Given the description of an element on the screen output the (x, y) to click on. 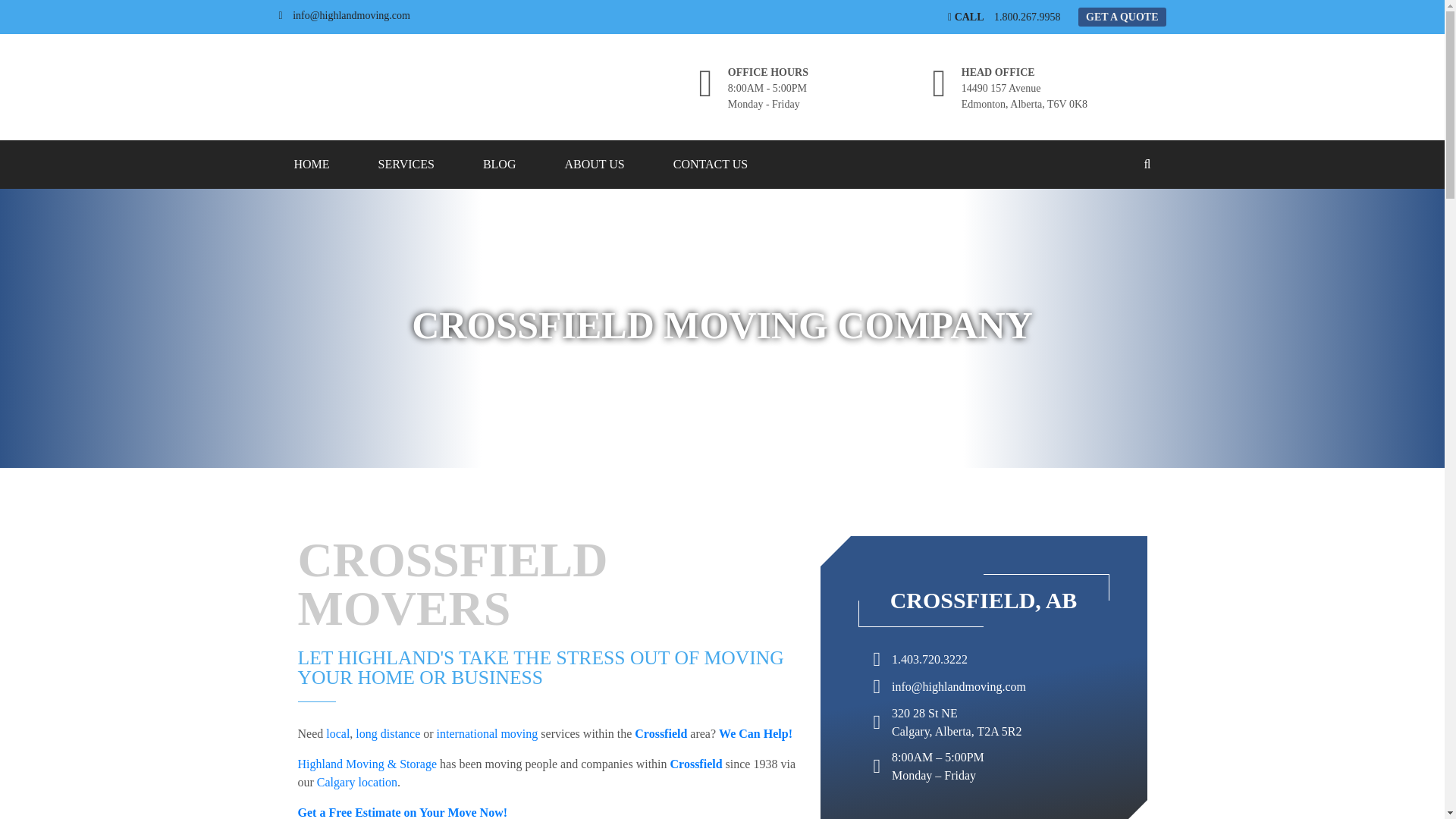
local (337, 733)
Crossfield (695, 763)
Get a Free Estimate on Your Move Now! (401, 812)
Calgary location (357, 781)
HOME (312, 164)
We Can Help! (755, 733)
BLOG (499, 164)
GET A QUOTE (1122, 16)
international moving (487, 733)
1.800.267.9958 (1027, 16)
